Given the description of an element on the screen output the (x, y) to click on. 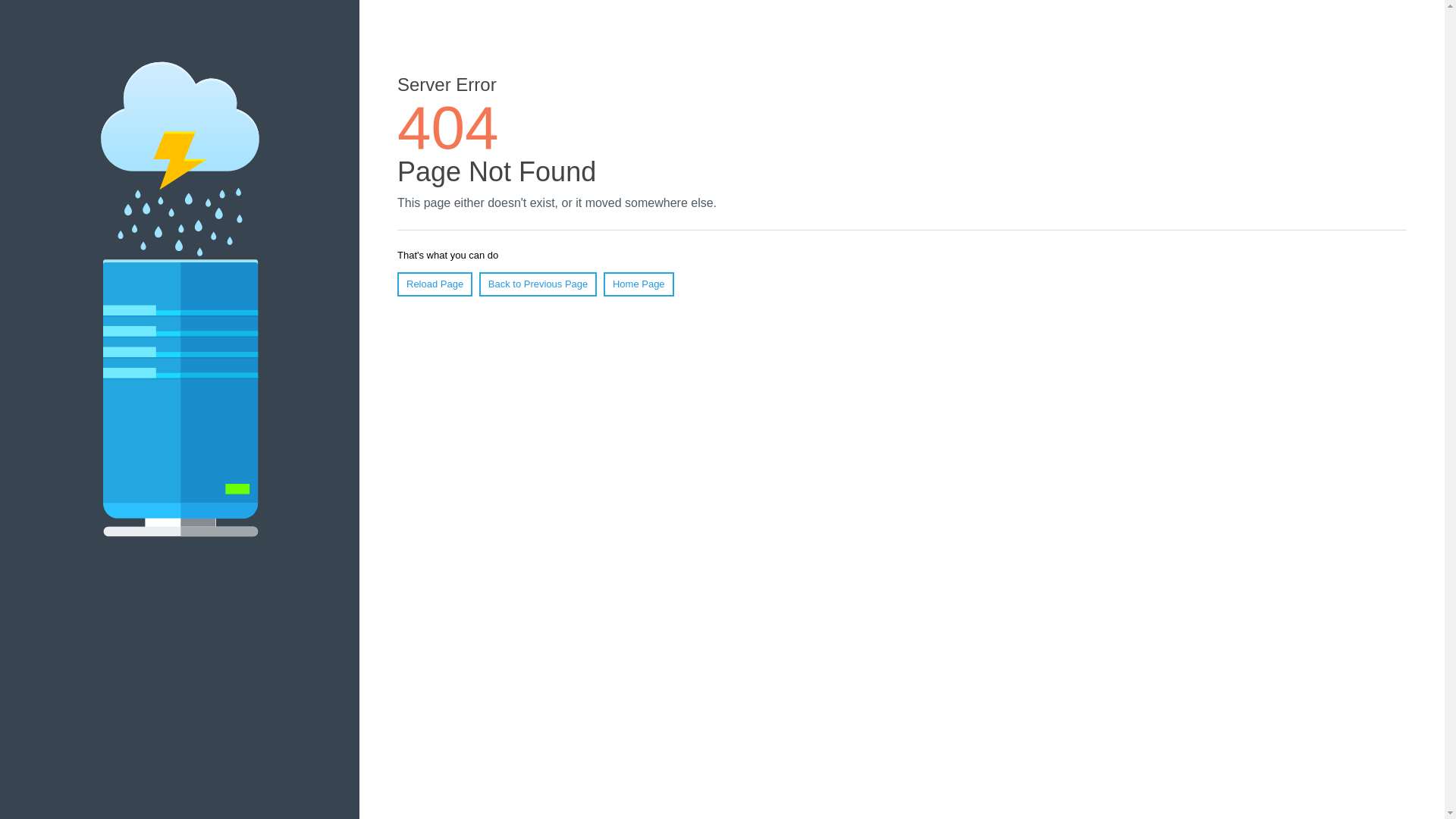
Back to Previous Page (537, 283)
Home Page (639, 283)
Reload Page (434, 283)
